Given the description of an element on the screen output the (x, y) to click on. 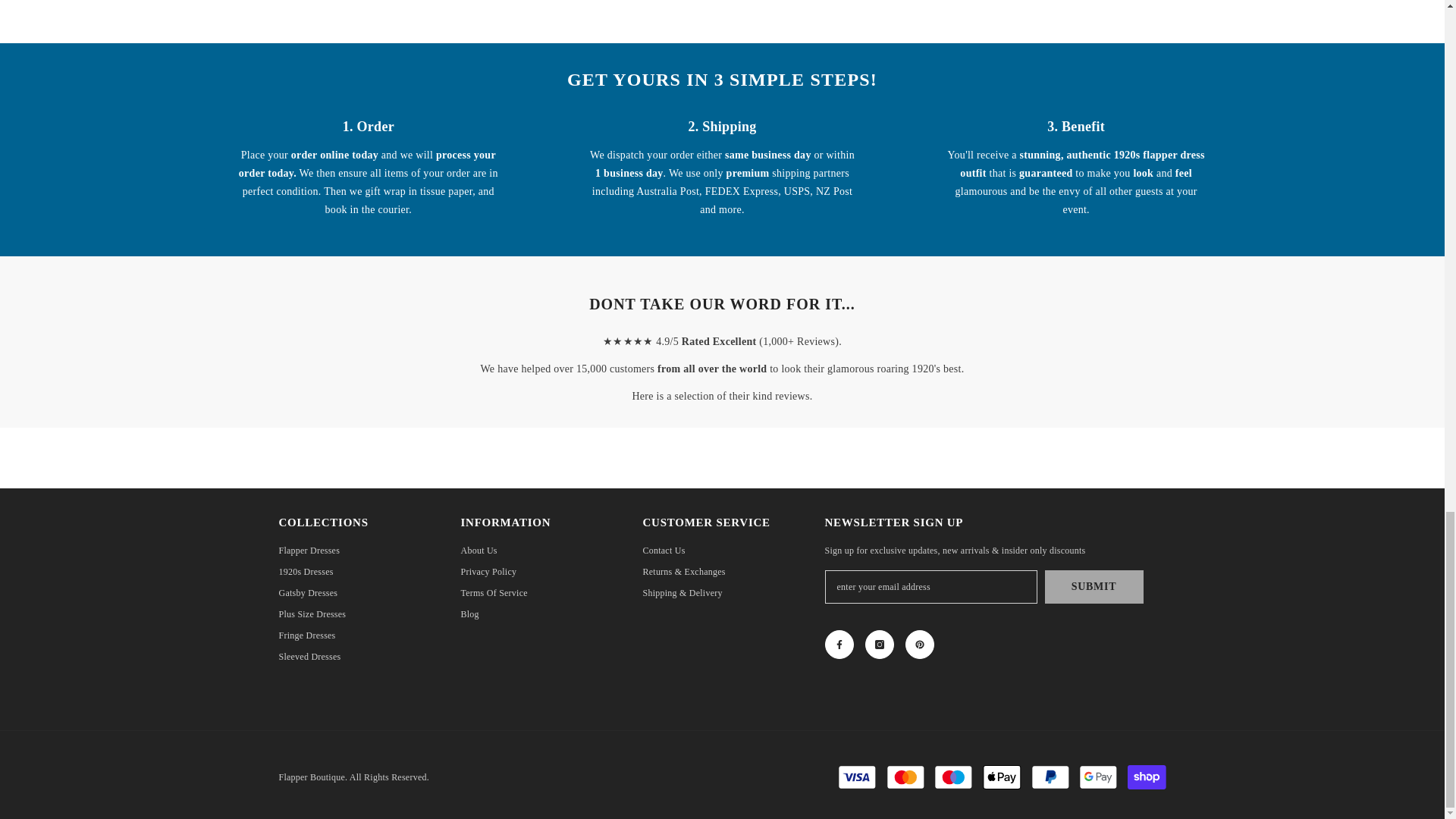
Mastercard (905, 776)
Google Pay (1098, 776)
Apple Pay (1001, 776)
Maestro (953, 776)
Visa (857, 776)
PayPal (1050, 776)
